Given the description of an element on the screen output the (x, y) to click on. 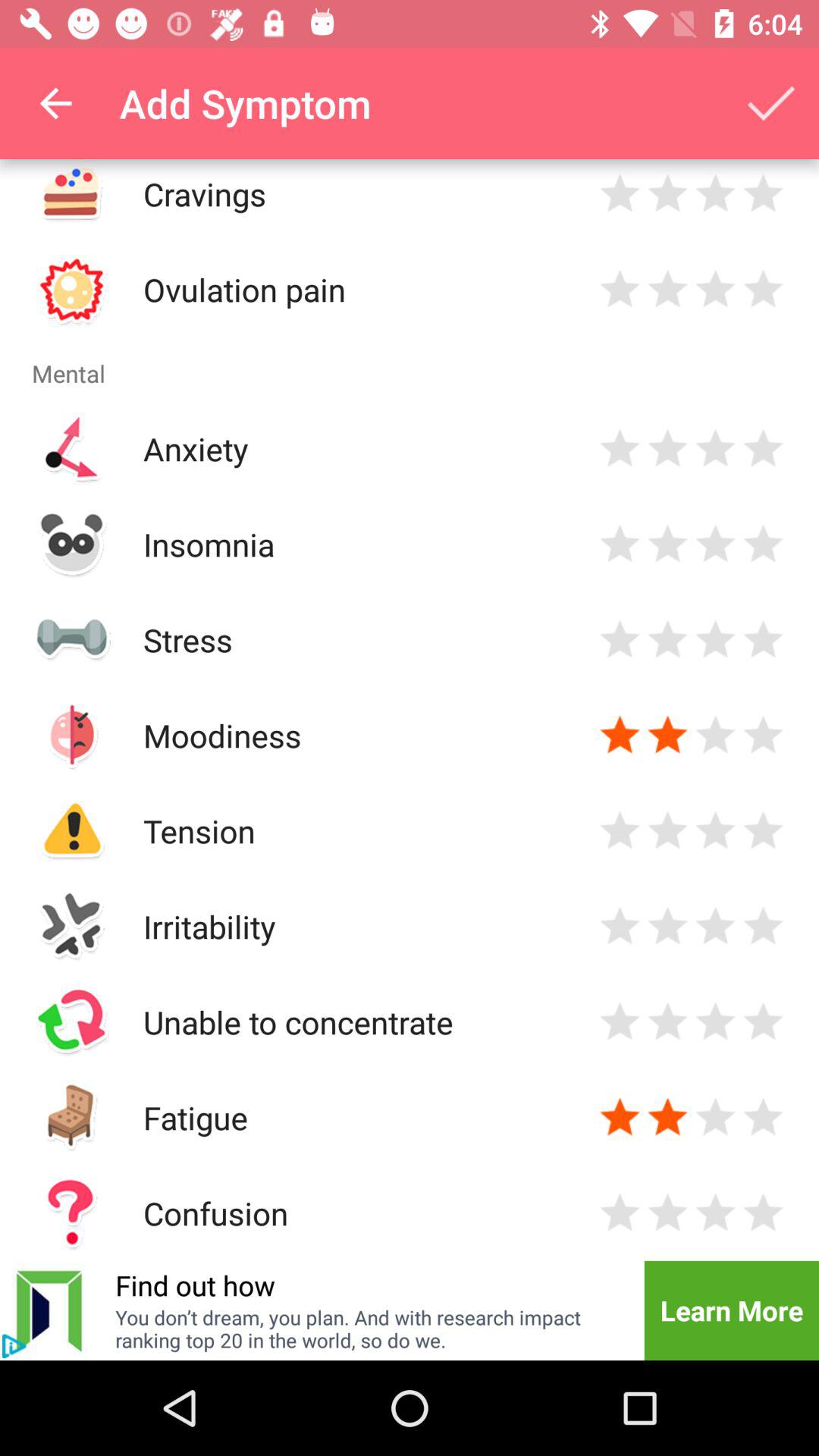
rate four stars (763, 289)
